Given the description of an element on the screen output the (x, y) to click on. 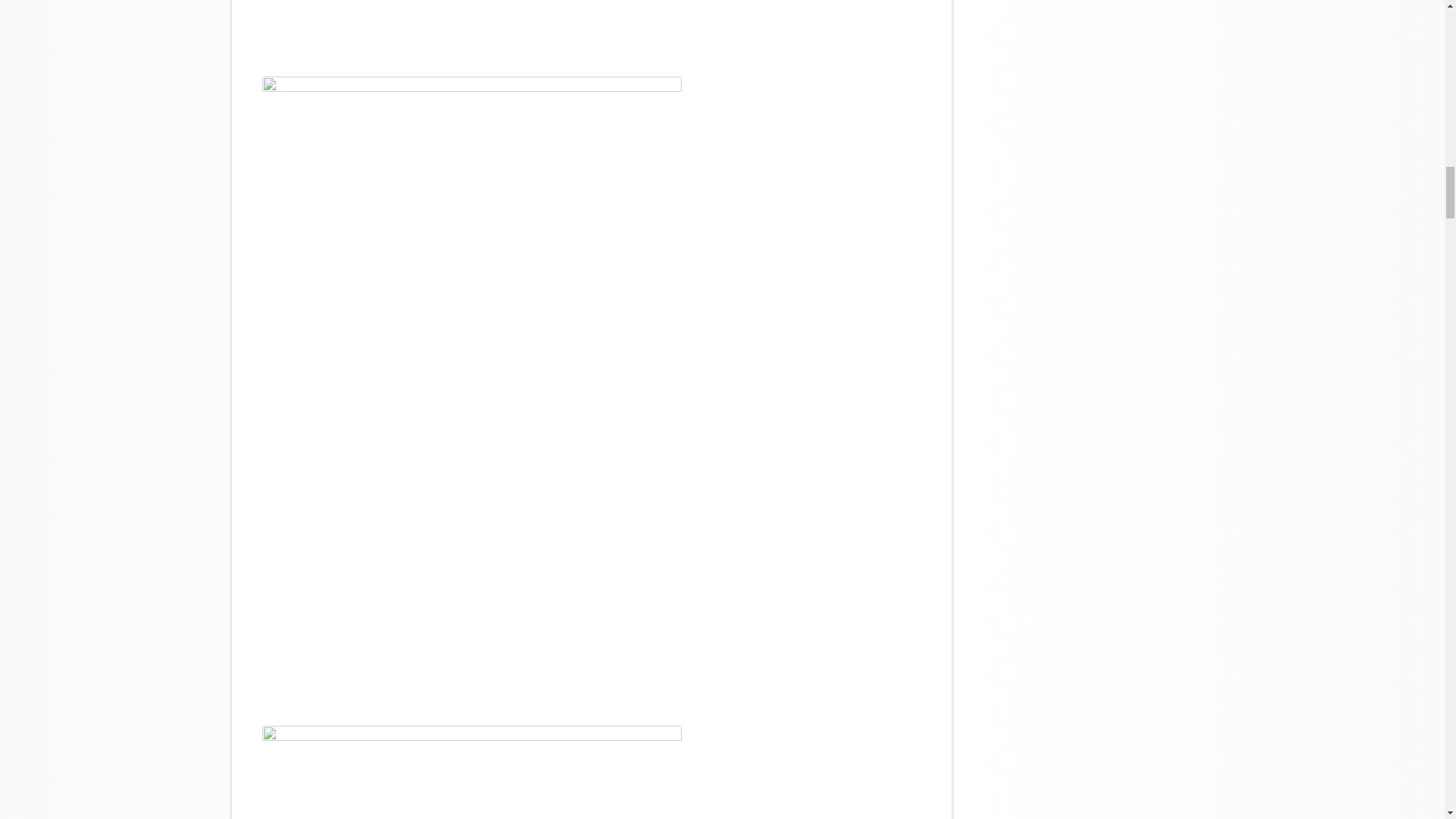
c (471, 25)
d (471, 772)
